Given the description of an element on the screen output the (x, y) to click on. 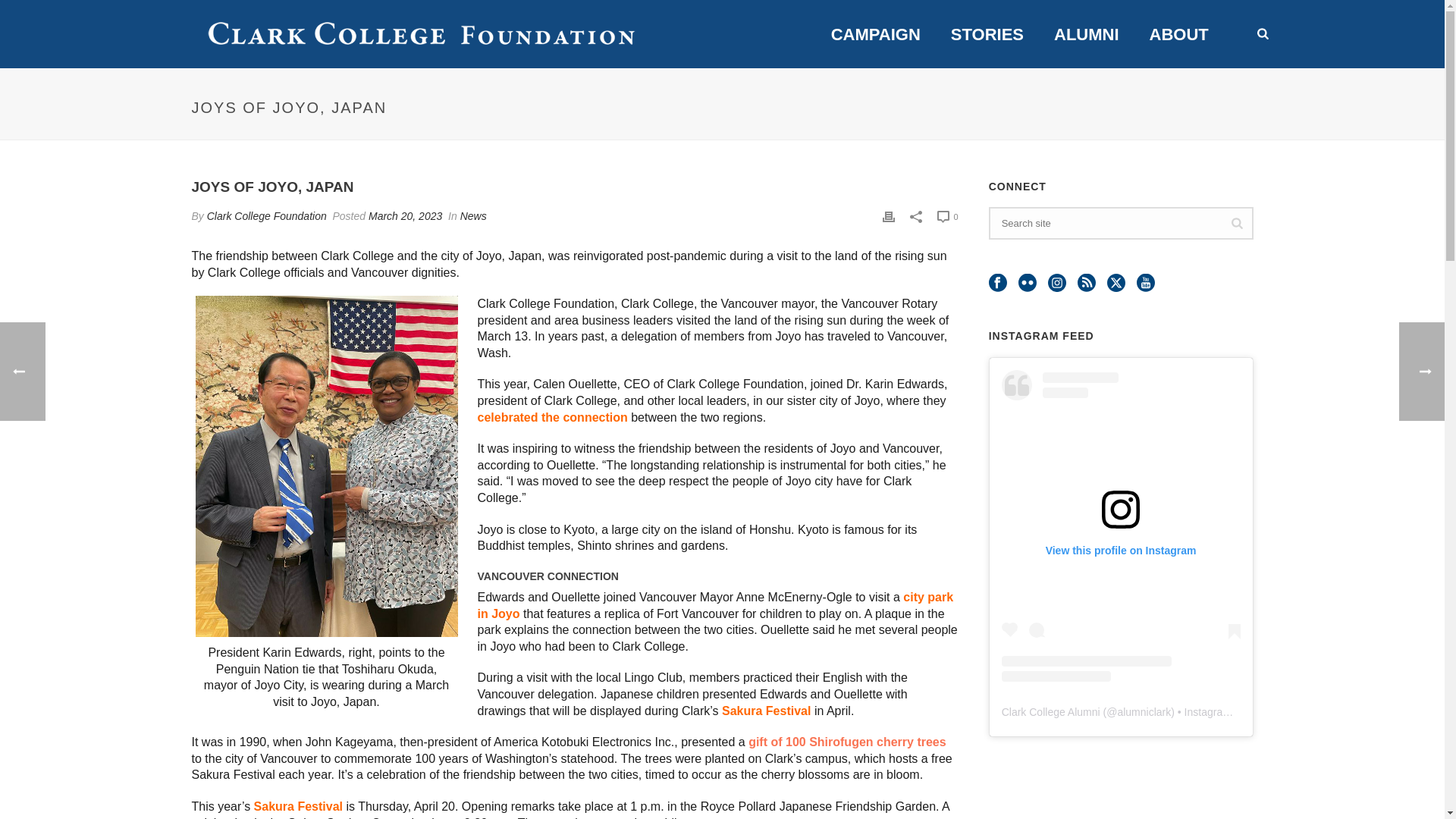
CAMPAIGN (875, 34)
0 (947, 217)
city park in Joyo (715, 604)
STORIES (987, 34)
CAMPAIGN (875, 34)
March 20, 2023 (405, 215)
Sakura Festival (766, 710)
ALUMNI (1086, 34)
ABOUT (1179, 34)
